Given the description of an element on the screen output the (x, y) to click on. 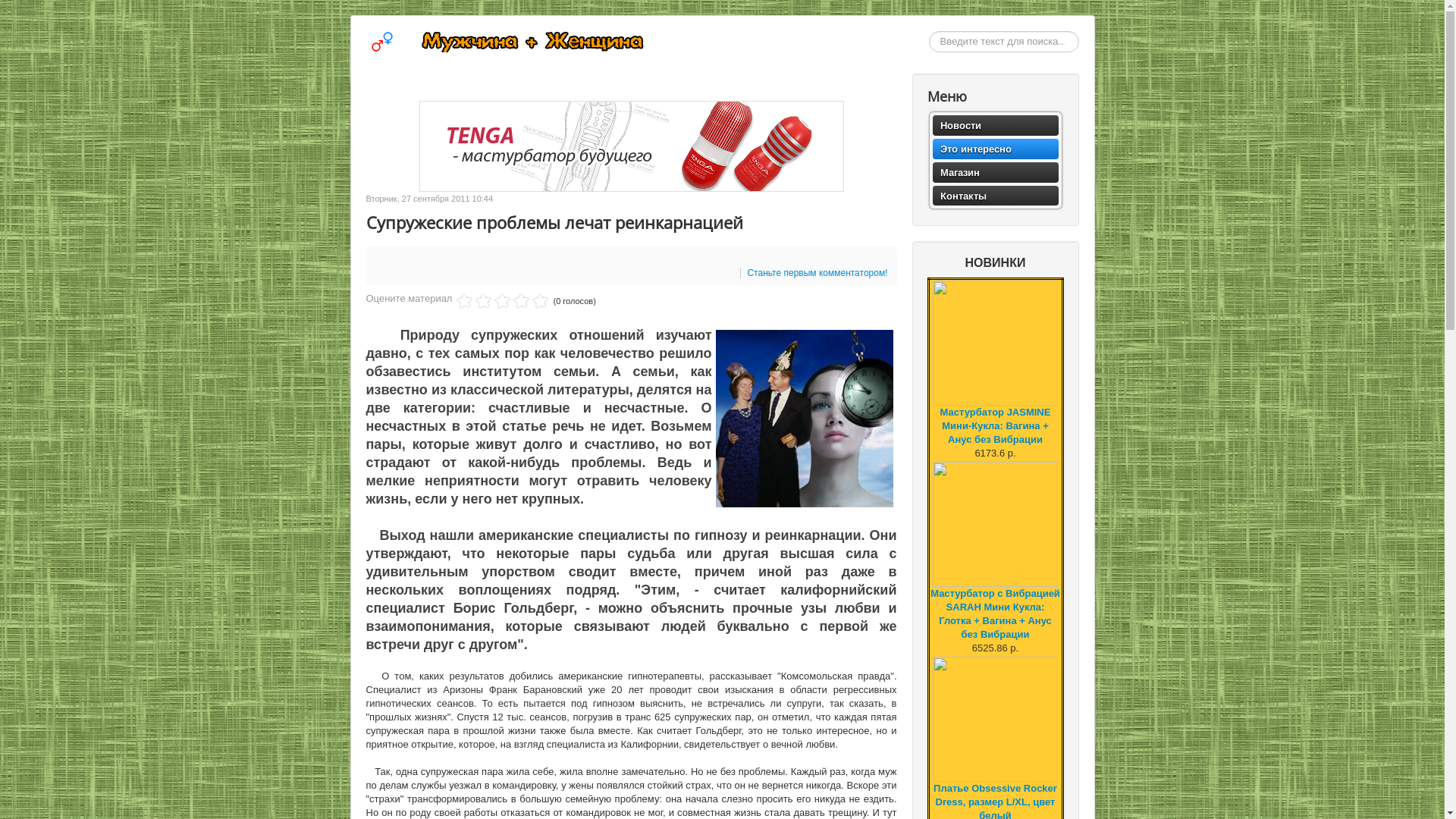
1 Element type: text (464, 300)
5 Element type: text (502, 300)
3 Element type: text (483, 300)
4 Element type: text (492, 300)
2 Element type: text (473, 300)
